Given the description of an element on the screen output the (x, y) to click on. 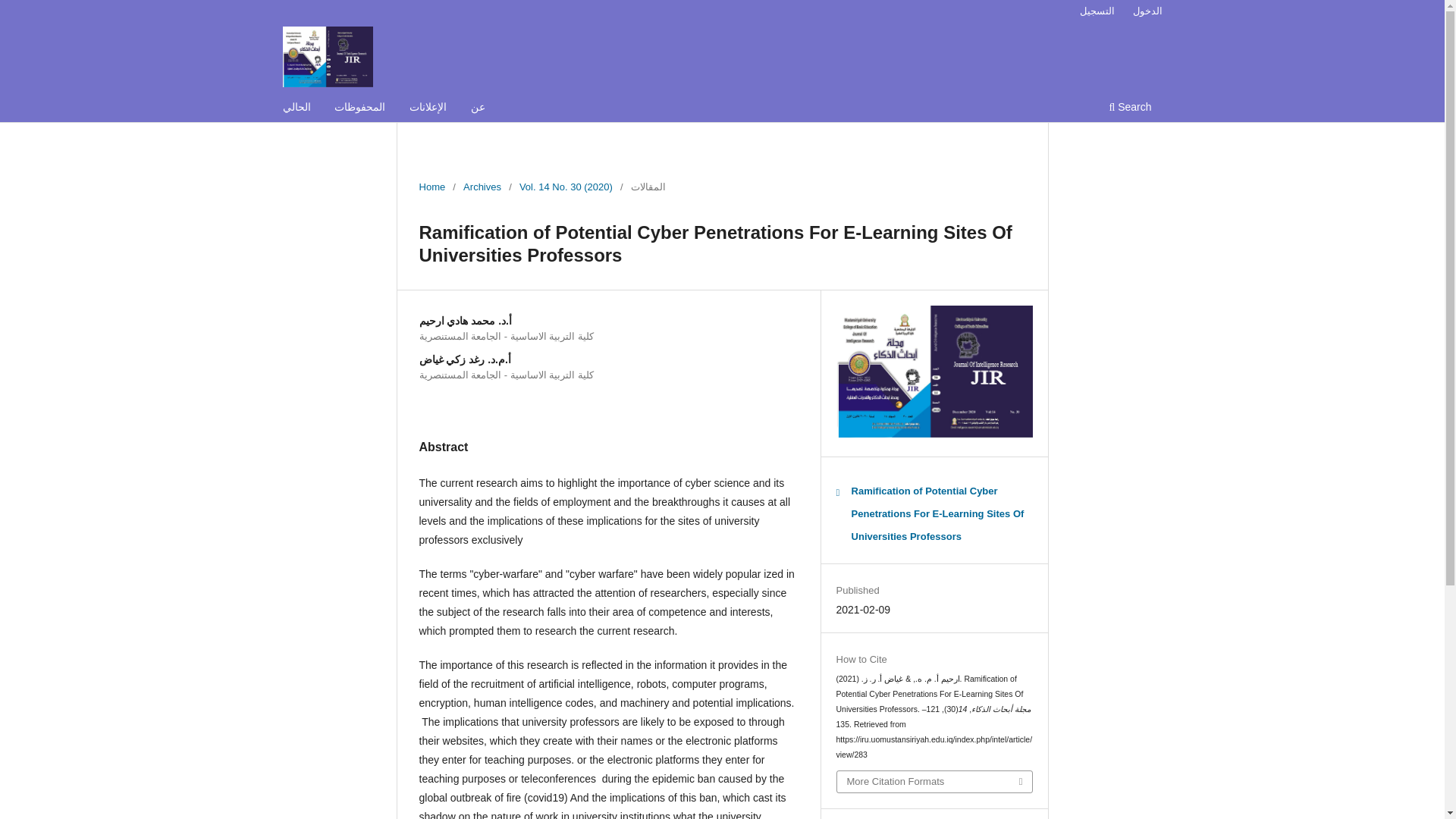
Search (1129, 108)
Home (432, 186)
Archives (481, 186)
More Citation Formats (934, 781)
